Given the description of an element on the screen output the (x, y) to click on. 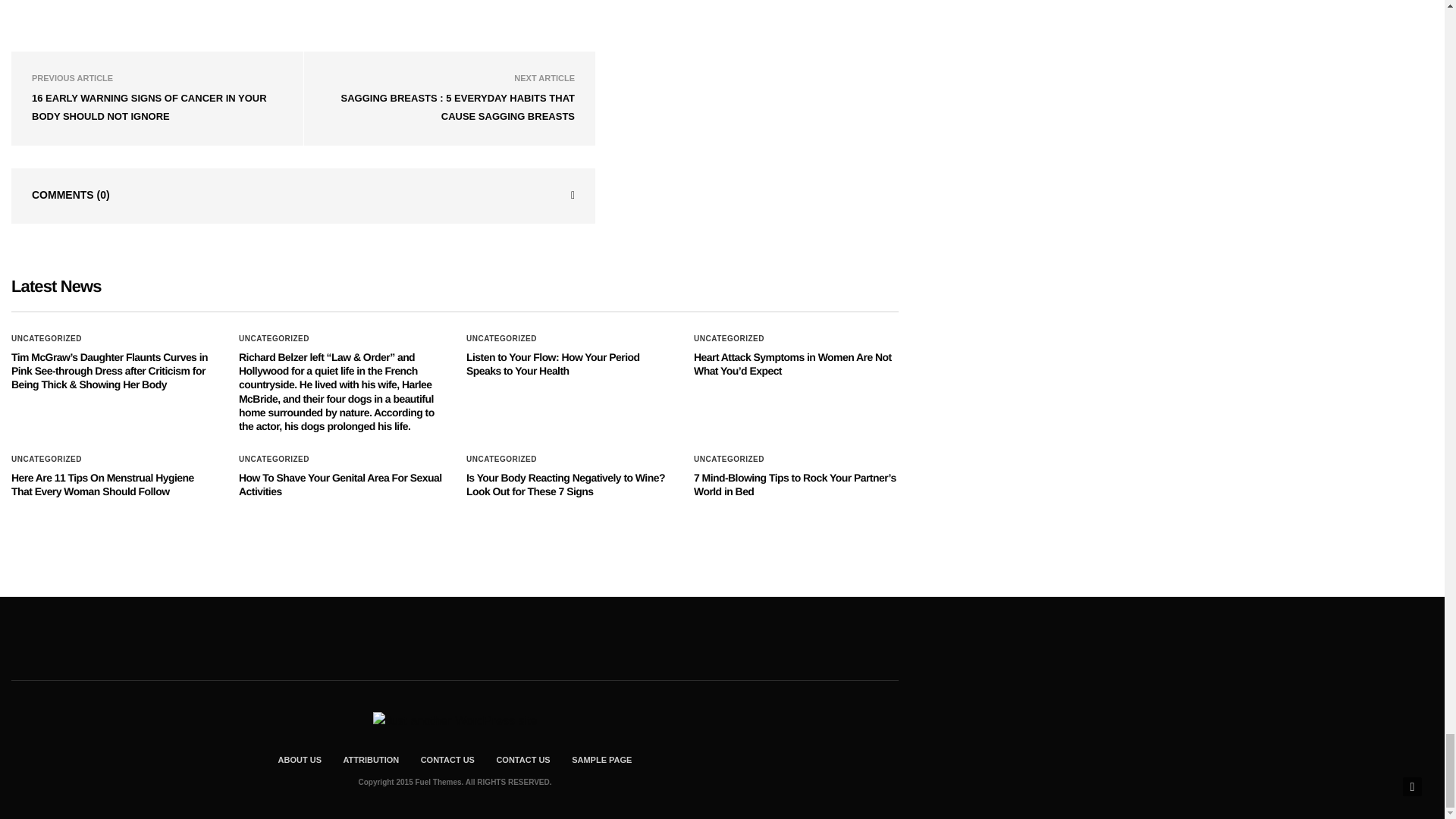
Uncategorized (501, 338)
Listen to Your Flow: How Your Period Speaks to Your Health (552, 363)
Uncategorized (46, 338)
Uncategorized (273, 338)
